Given the description of an element on the screen output the (x, y) to click on. 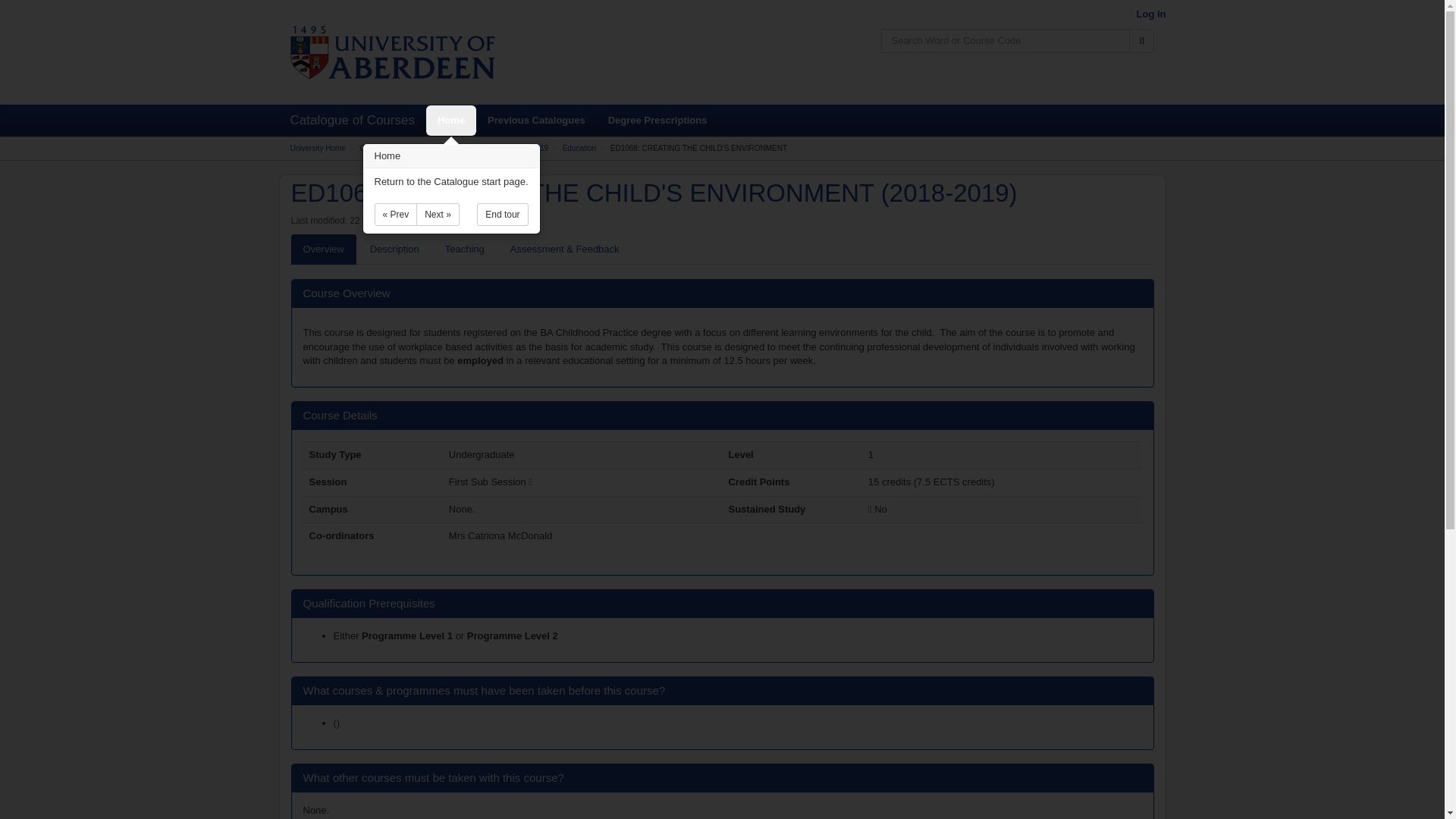
University Home (317, 148)
Previous Catalogues (536, 120)
2018-2019 (530, 148)
End tour (502, 214)
Description (394, 249)
Log In (1150, 13)
Search Catalogue (1141, 41)
Degree Prescriptions (657, 120)
Undergraduate (471, 148)
Teaching (464, 249)
Home (451, 120)
Education (578, 148)
Catalogue of Courses (395, 148)
Overview (323, 249)
University of Aberdeen (392, 52)
